Given the description of an element on the screen output the (x, y) to click on. 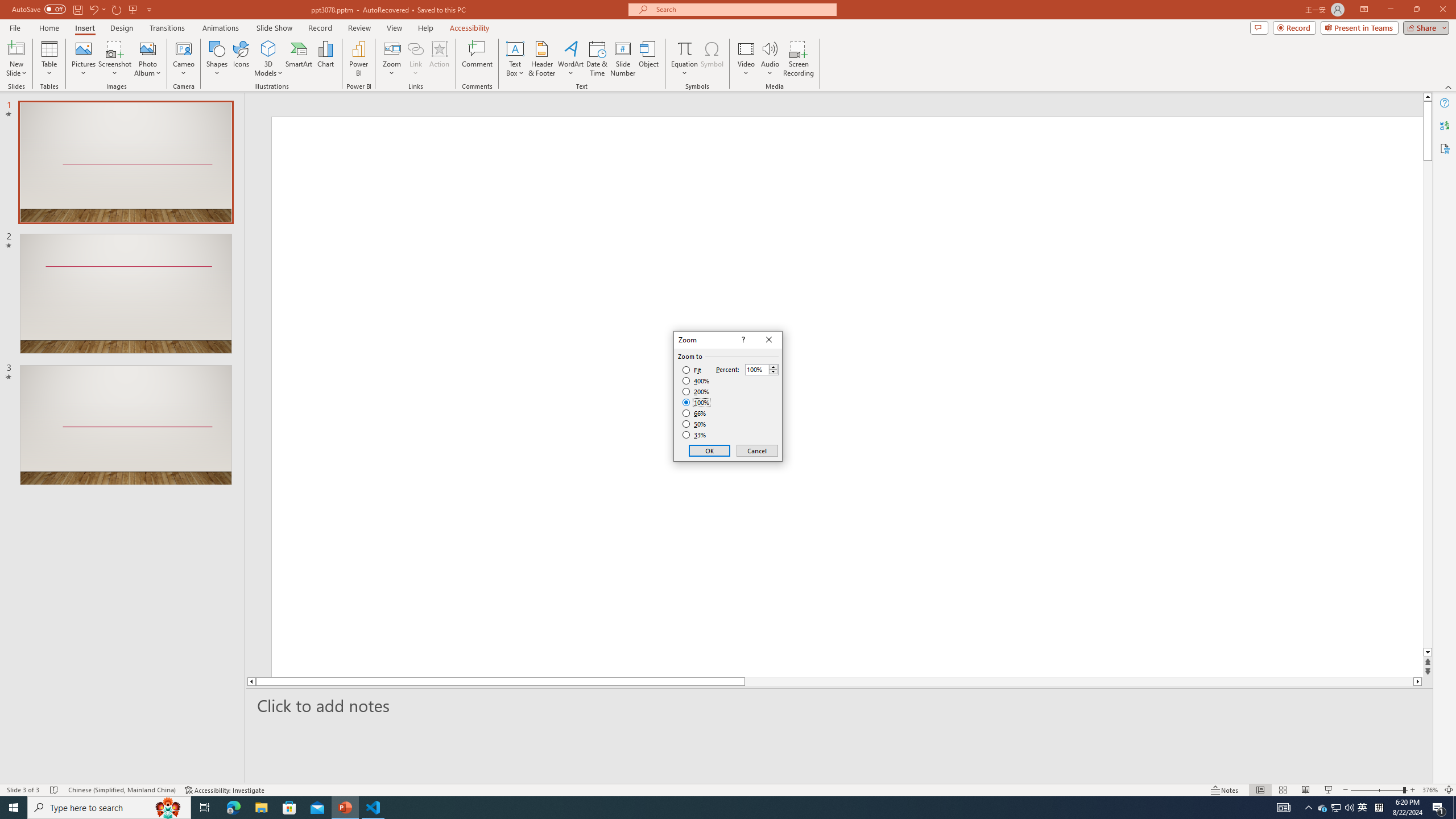
OK (709, 450)
SmartArt... (298, 58)
